Given the description of an element on the screen output the (x, y) to click on. 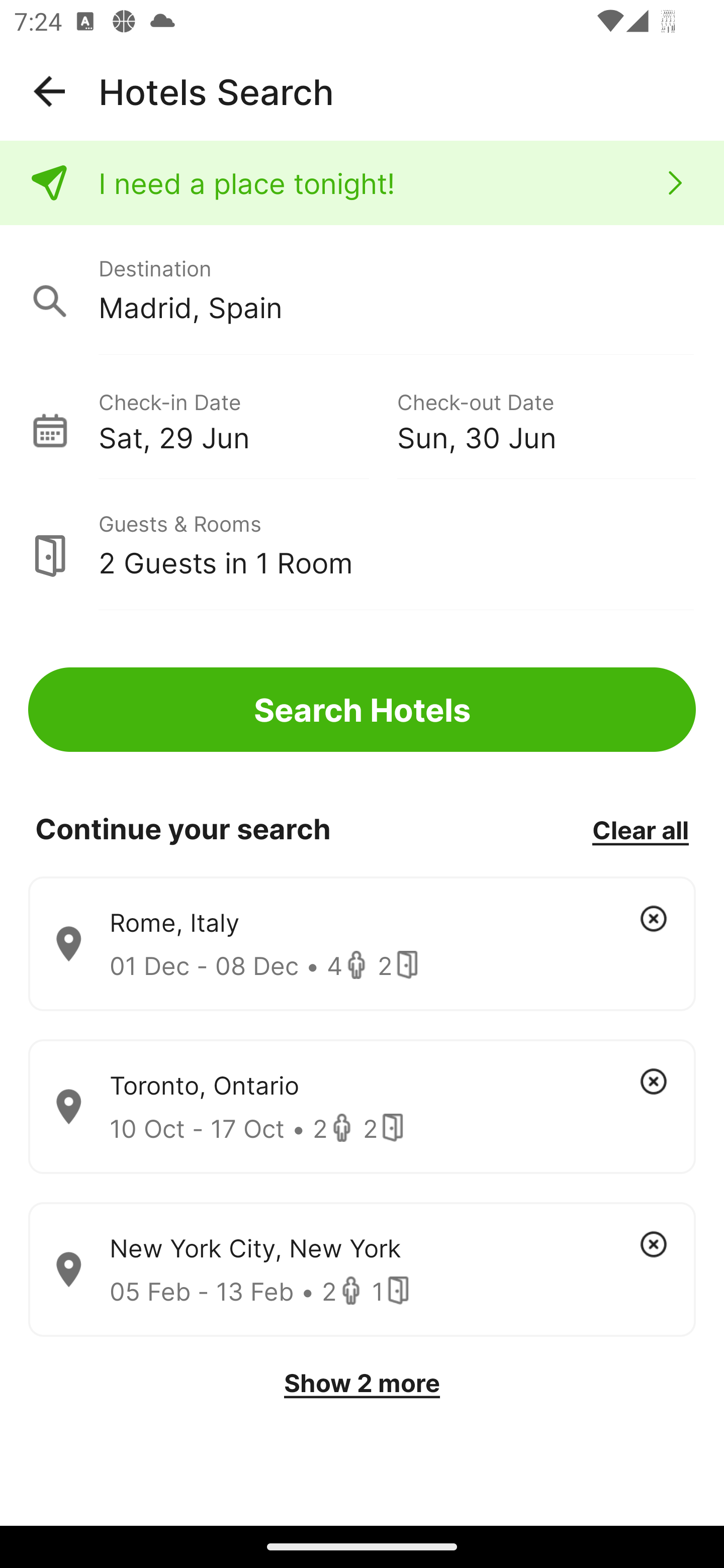
I need a place tonight! (362, 183)
Destination Madrid, Spain (362, 290)
Check-in Date Sat, 29 Jun (247, 418)
Check-out Date Sun, 30 Jun (546, 418)
Guests & Rooms 2 Guests in 1 Room (362, 545)
Search Hotels (361, 709)
Clear all (640, 829)
Rome, Italy 01 Dec - 08 Dec • 4  2  (361, 943)
Toronto, Ontario 10 Oct - 17 Oct • 2  2  (361, 1106)
New York City, New York 05 Feb - 13 Feb • 2  1  (361, 1269)
Show 2 more (362, 1382)
